Given the description of an element on the screen output the (x, y) to click on. 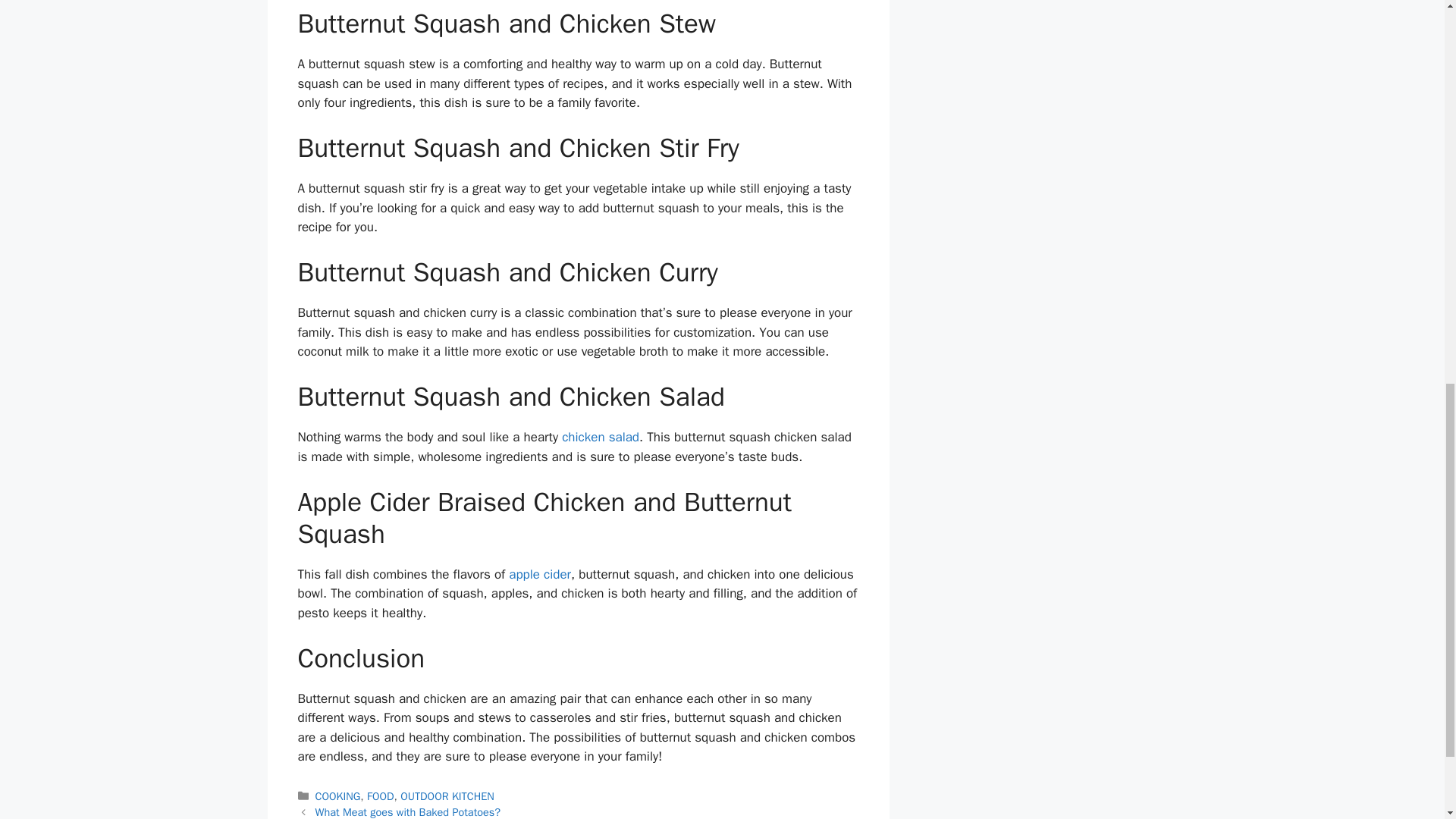
What Meat goes with Baked Potatoes? (407, 812)
OUTDOOR KITCHEN (447, 796)
COOKING (338, 796)
apple cider (539, 574)
FOOD (379, 796)
chicken salad (600, 437)
